Given the description of an element on the screen output the (x, y) to click on. 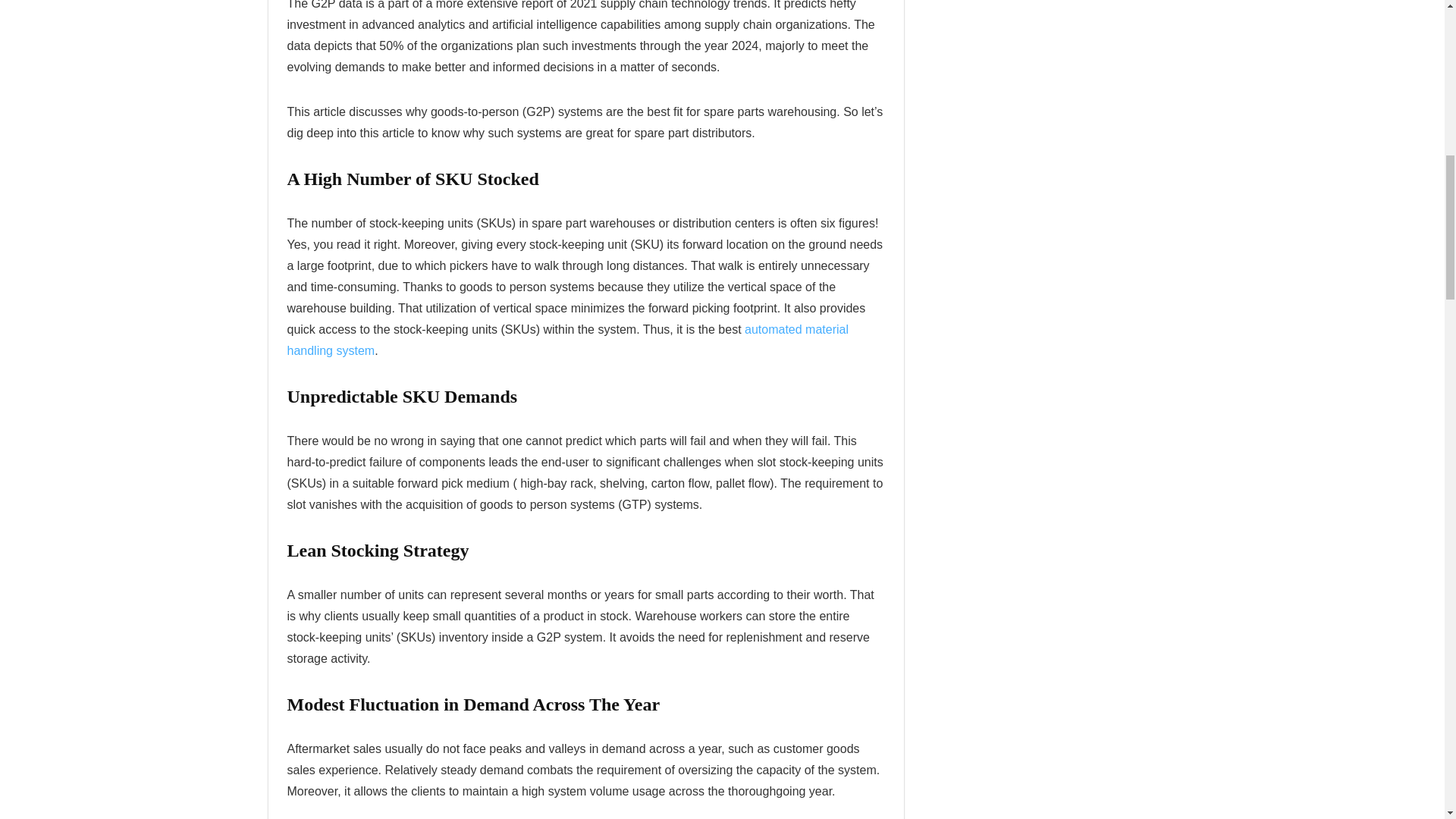
Advertisement (1048, 2)
